Given the description of an element on the screen output the (x, y) to click on. 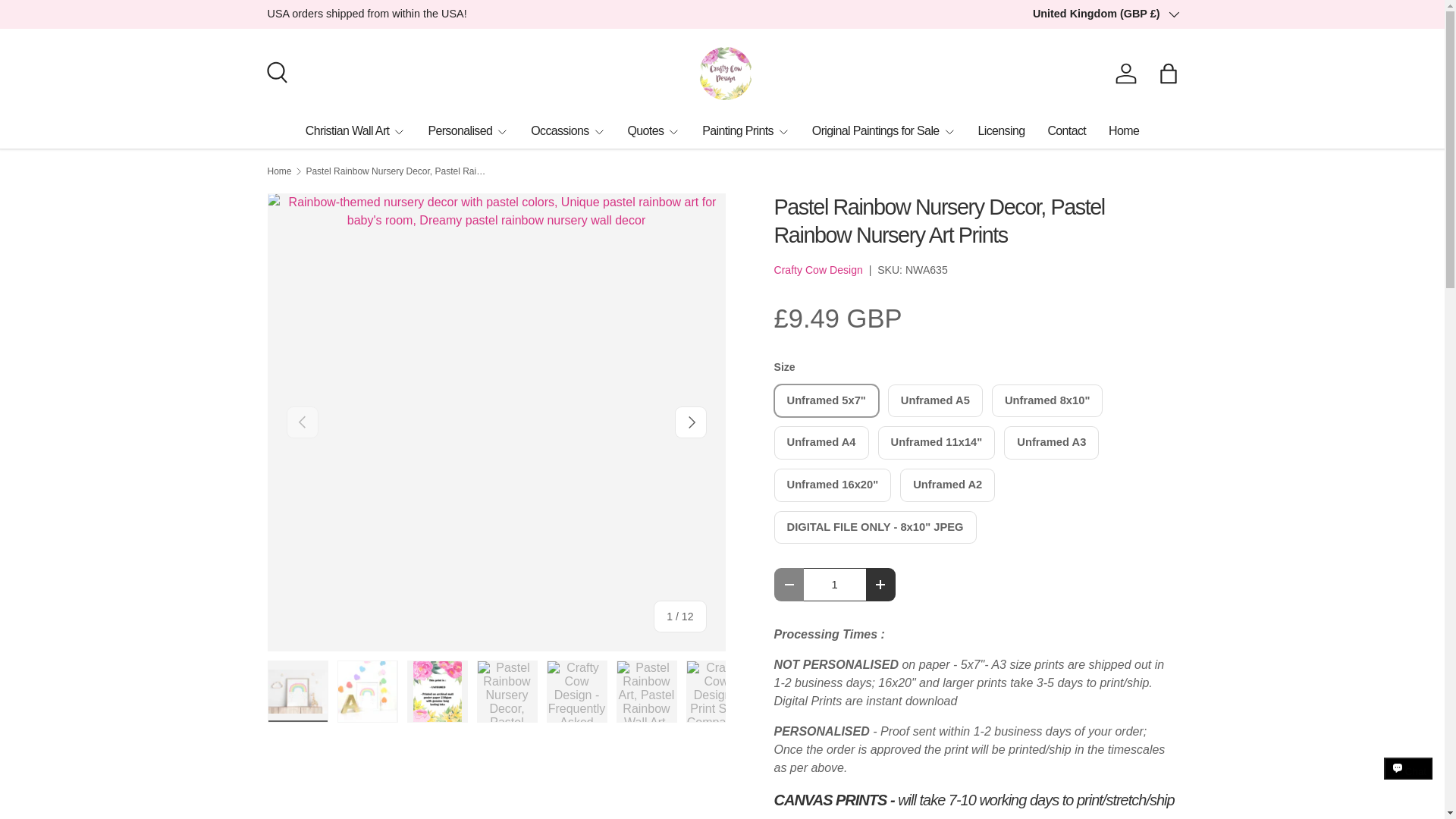
Skip to content (64, 21)
Christian Wall Art (355, 130)
Bag (1168, 73)
Log in (1124, 73)
Search (274, 70)
Shopify online store chat (1408, 781)
